Given the description of an element on the screen output the (x, y) to click on. 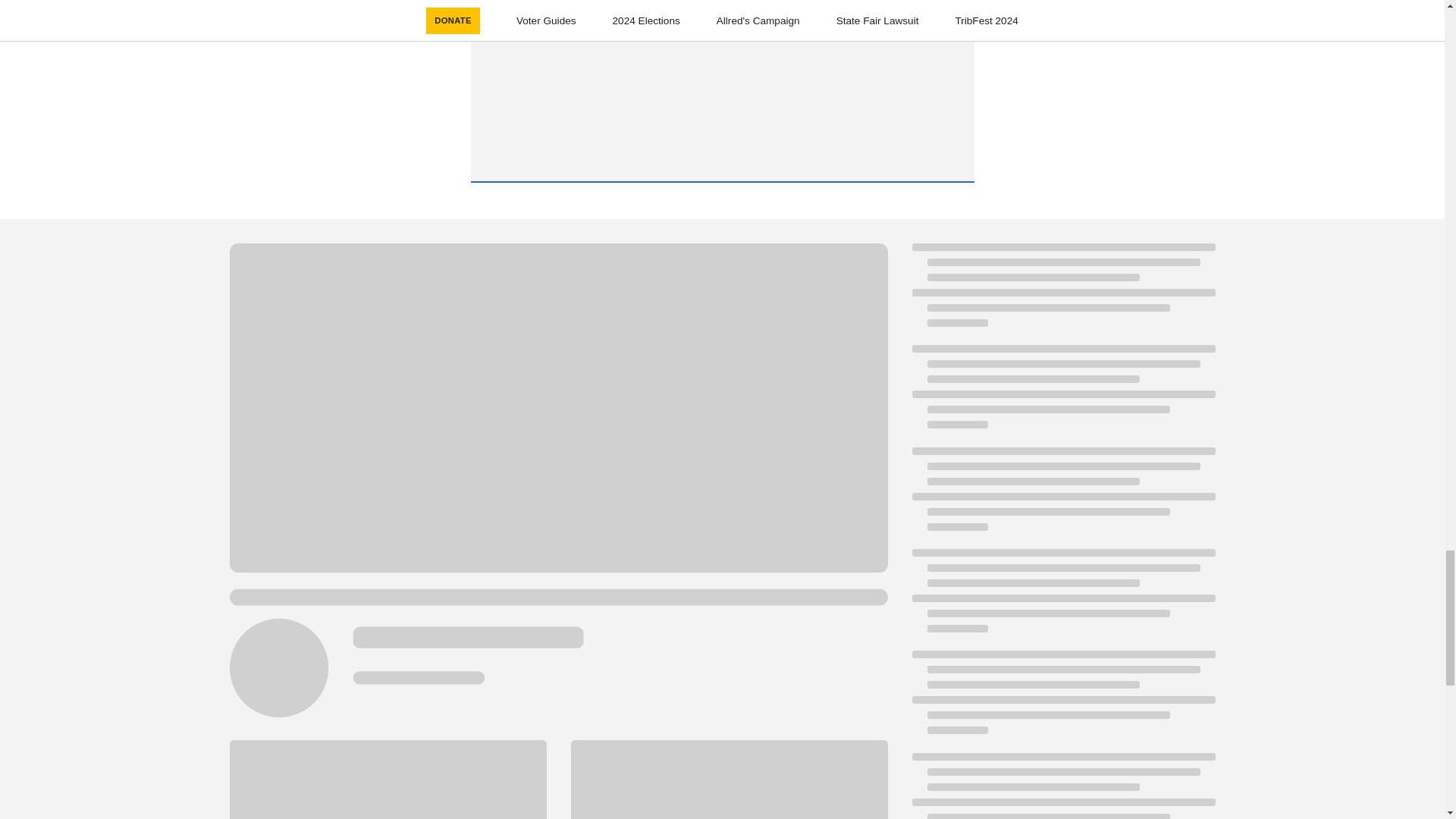
Loading indicator (1062, 292)
Loading indicator (1062, 597)
Loading indicator (1062, 393)
Loading indicator (1062, 496)
Loading indicator (1062, 699)
Loading indicator (1062, 785)
